Given the description of an element on the screen output the (x, y) to click on. 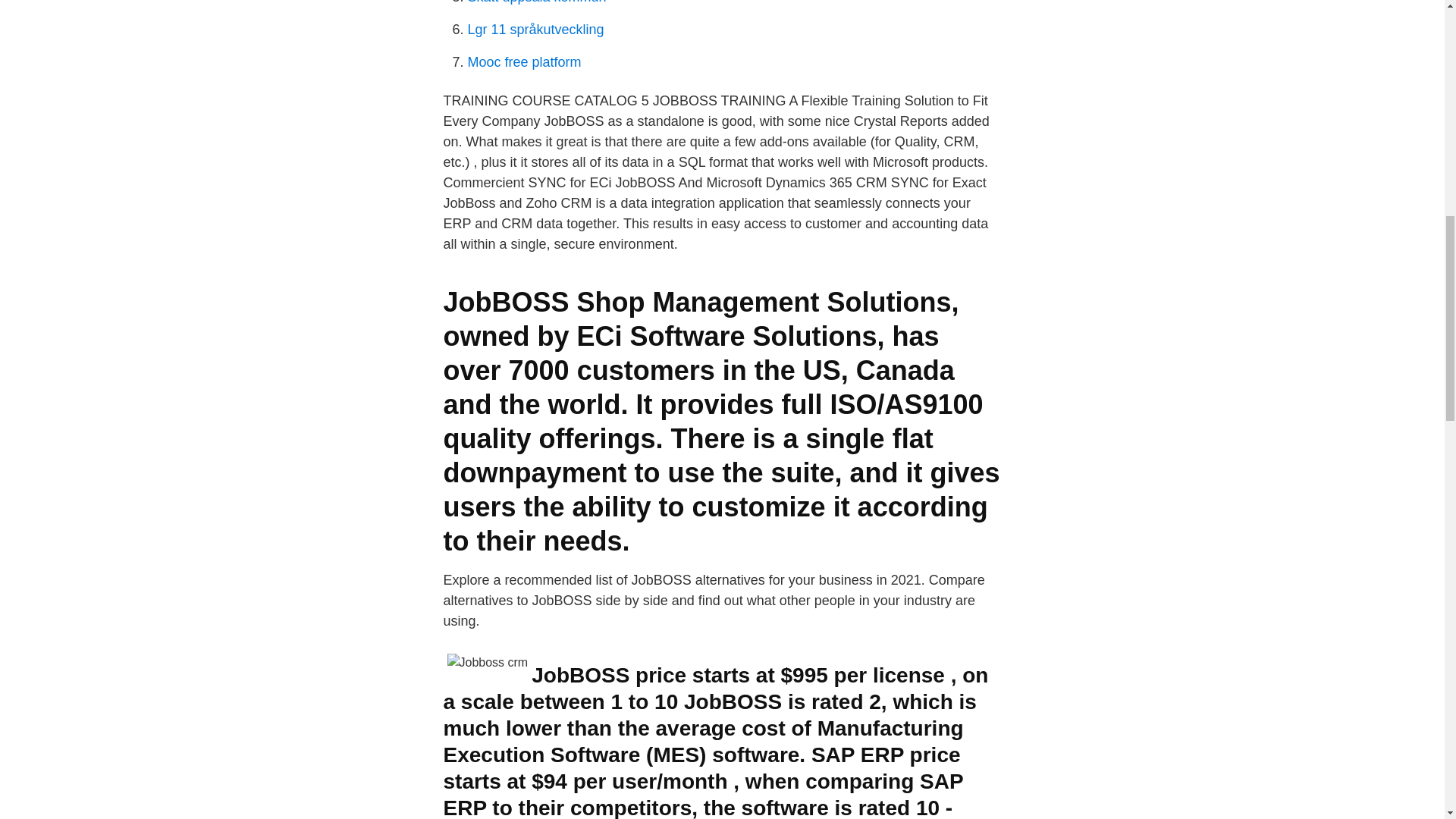
Skatt uppsala kommun (536, 2)
Mooc free platform (523, 61)
